Given the description of an element on the screen output the (x, y) to click on. 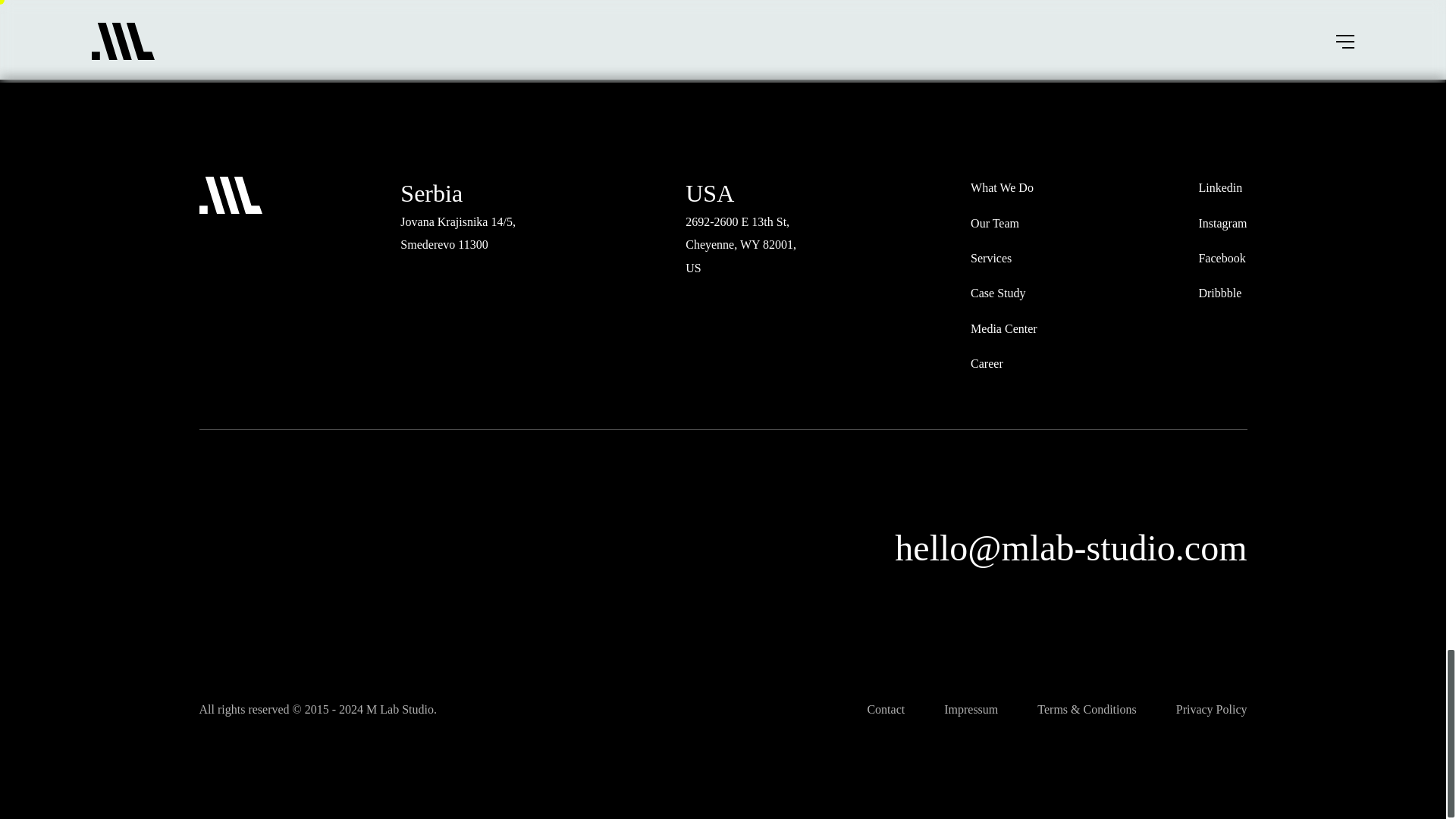
Case Study (998, 292)
2692-2600 E 13th St, Cheyenne, WY 82001, US (740, 244)
Services (991, 258)
Our Team (995, 223)
What We Do (1002, 187)
